Given the description of an element on the screen output the (x, y) to click on. 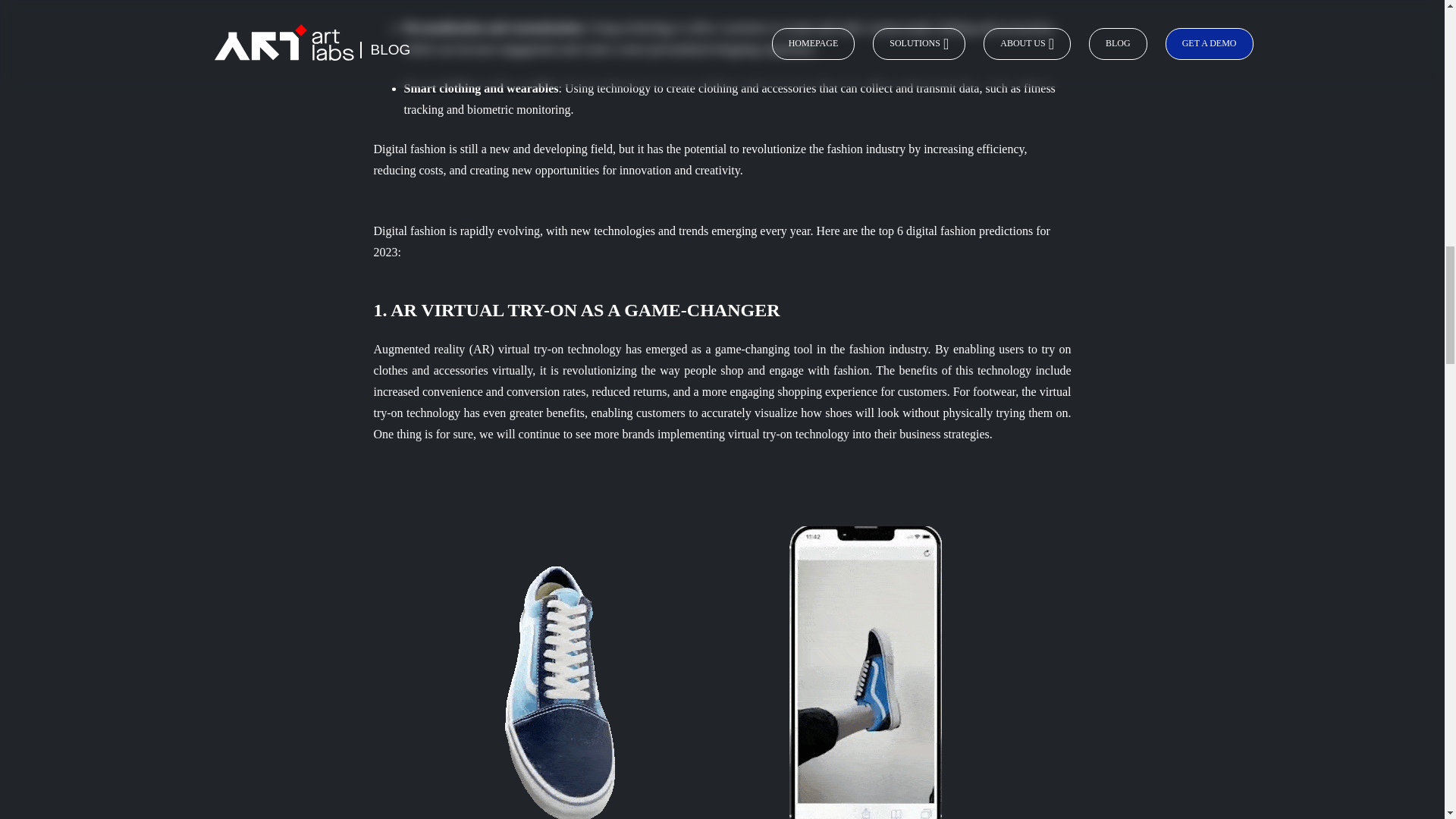
Smart clothing and wearables (480, 88)
For footwear (983, 391)
